Given the description of an element on the screen output the (x, y) to click on. 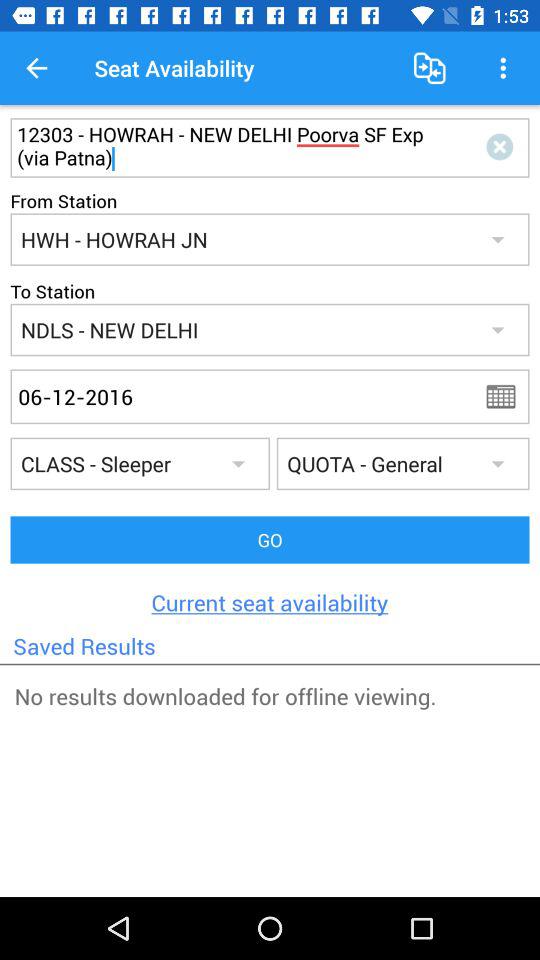
click the item next to the seat availability icon (36, 68)
